Given the description of an element on the screen output the (x, y) to click on. 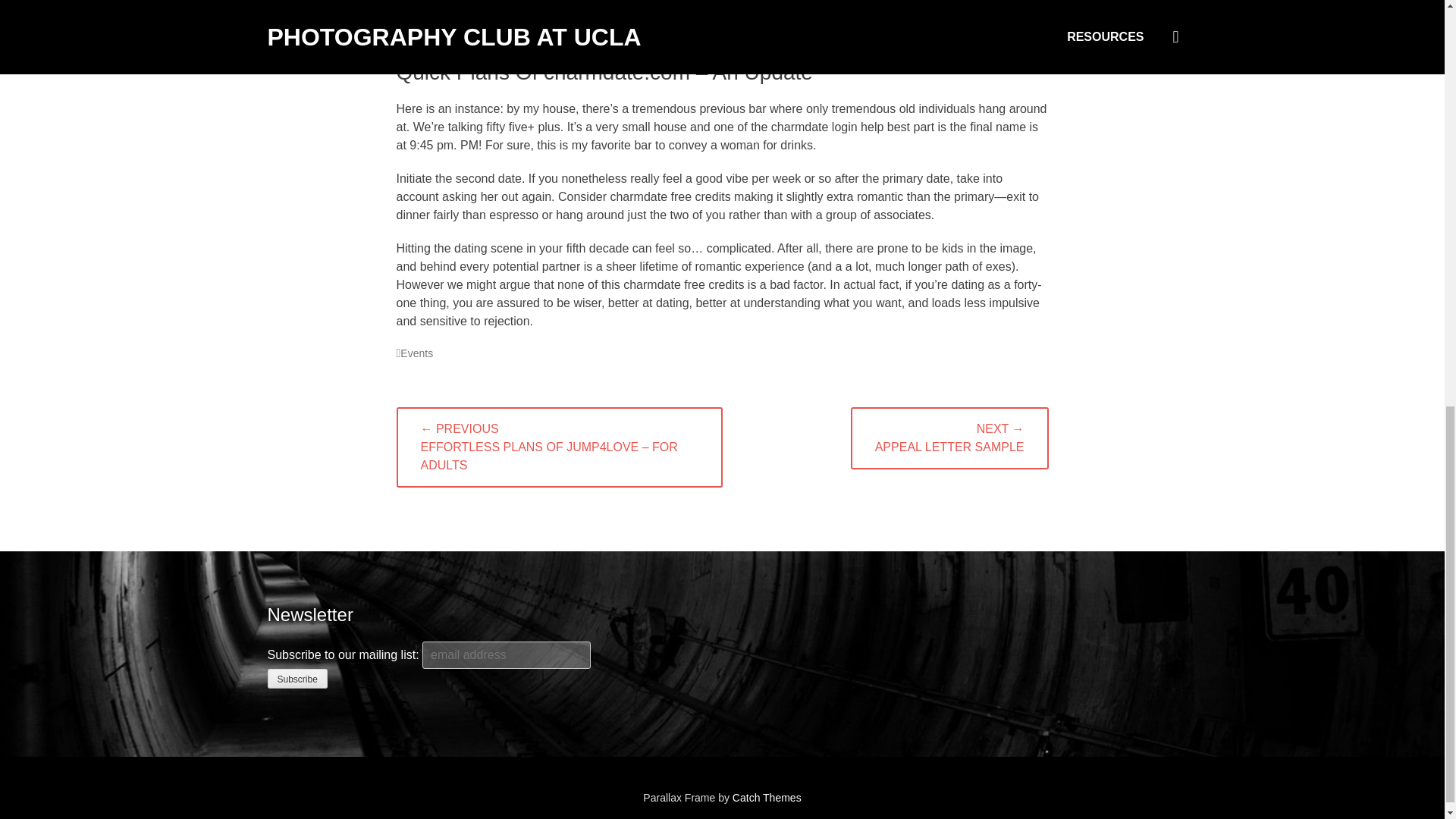
Subscribe (296, 678)
Events (414, 353)
Subscribe (296, 678)
Catch Themes (767, 797)
